Given the description of an element on the screen output the (x, y) to click on. 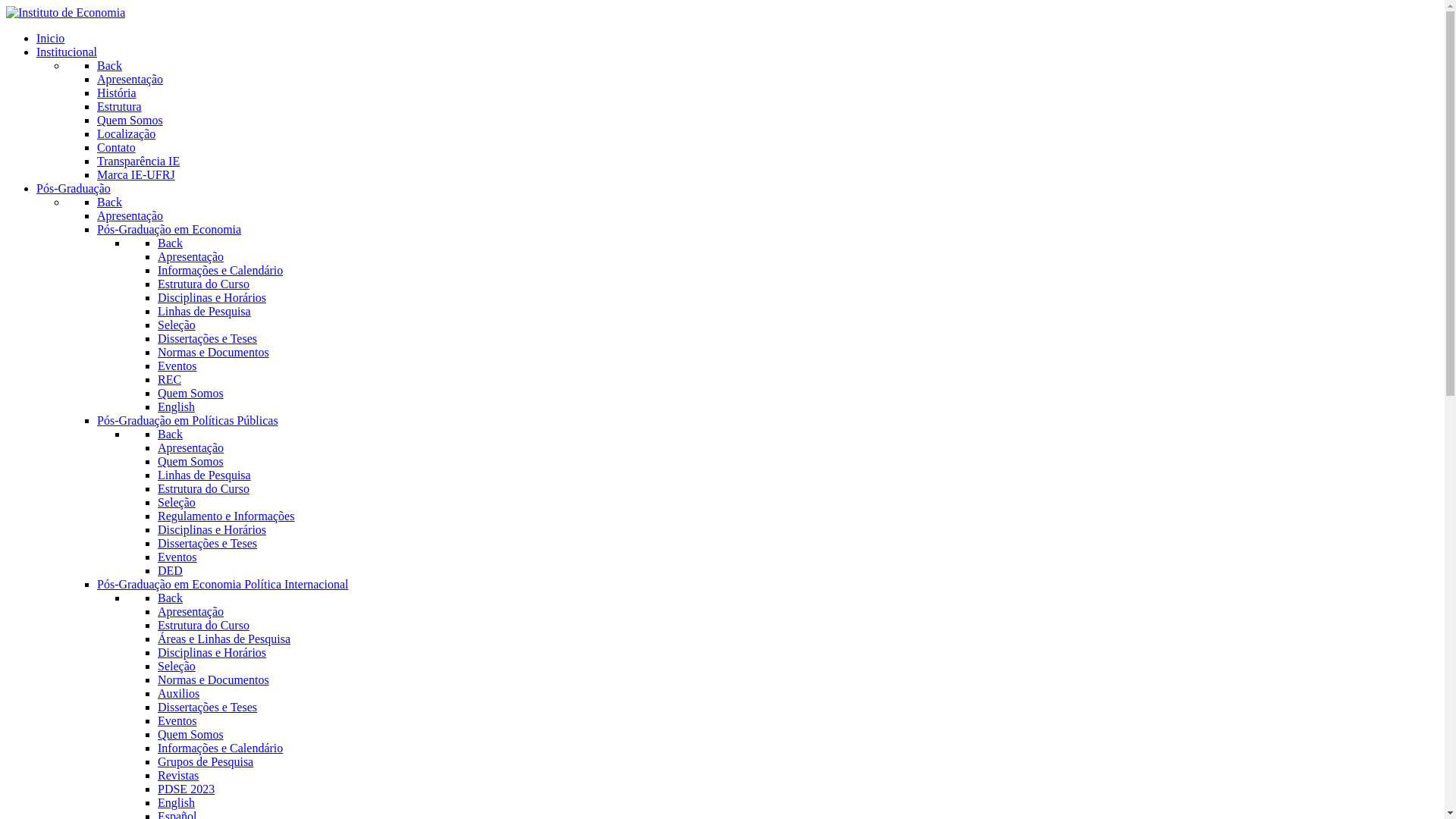
Linhas de Pesquisa Element type: text (204, 474)
Normas e Documentos Element type: text (213, 679)
Normas e Documentos Element type: text (213, 351)
Instituto de Economia Element type: hover (65, 12)
Revistas Element type: text (177, 774)
Back Element type: text (169, 242)
Marca IE-UFRJ Element type: text (136, 174)
Quem Somos Element type: text (130, 119)
Back Element type: text (169, 597)
Eventos Element type: text (177, 556)
English Element type: text (175, 802)
English Element type: text (175, 406)
Back Element type: text (109, 65)
Estrutura do Curso Element type: text (203, 283)
Linhas de Pesquisa Element type: text (204, 310)
Quem Somos Element type: text (190, 734)
Back Element type: text (169, 433)
Contato Element type: text (116, 147)
Grupos de Pesquisa Element type: text (205, 761)
Estrutura do Curso Element type: text (203, 488)
Eventos Element type: text (177, 365)
REC Element type: text (169, 379)
PDSE 2023 Element type: text (185, 788)
Quem Somos Element type: text (190, 461)
Institucional Element type: text (66, 51)
Back Element type: text (109, 201)
Estrutura Element type: text (119, 106)
Auxilios Element type: text (178, 693)
Eventos Element type: text (177, 720)
Quem Somos Element type: text (190, 392)
Estrutura do Curso Element type: text (203, 624)
DED Element type: text (169, 570)
Inicio Element type: text (50, 37)
